Given the description of an element on the screen output the (x, y) to click on. 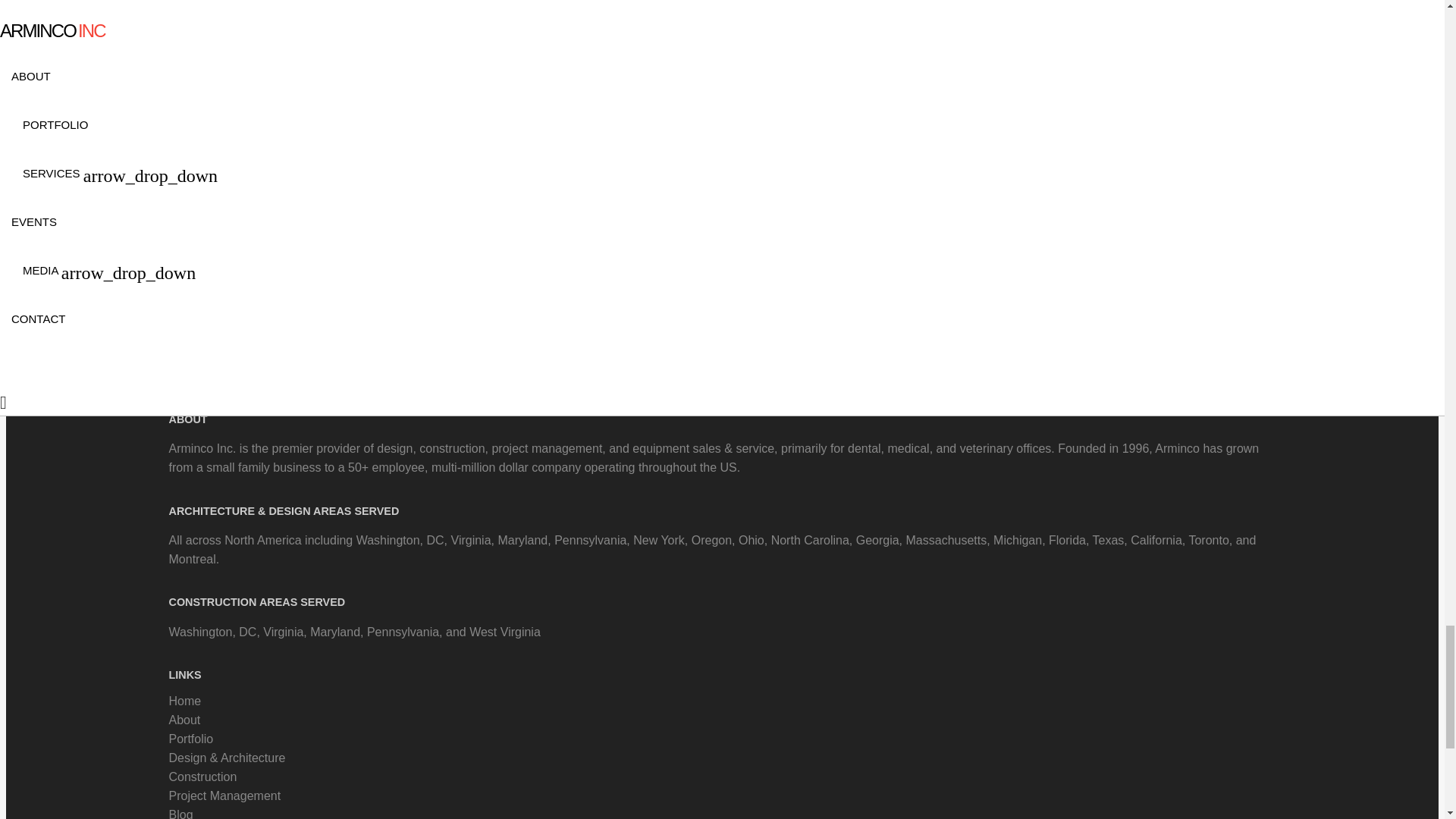
Subscribe (722, 376)
